Given the description of an element on the screen output the (x, y) to click on. 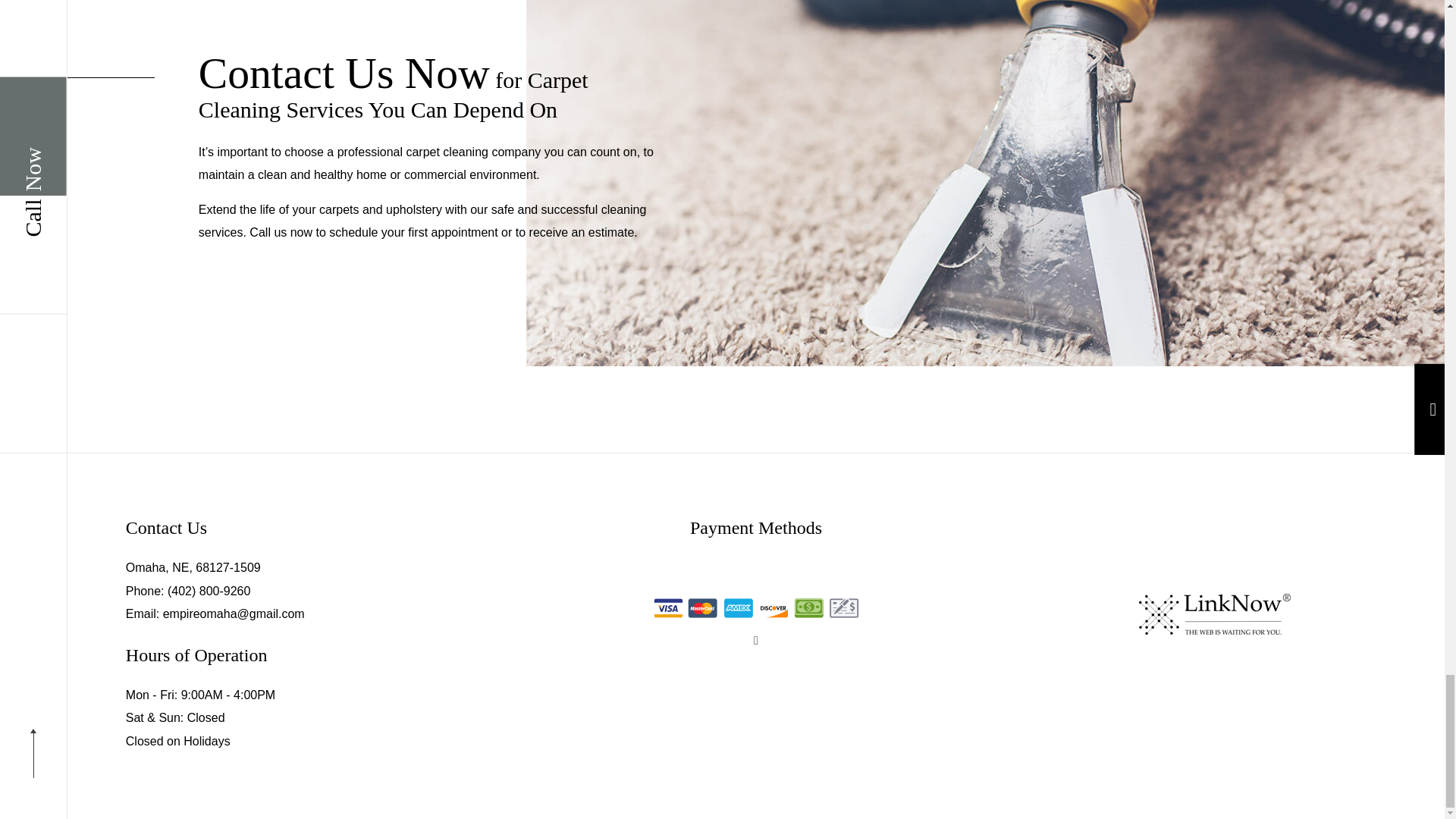
Mastercard (703, 608)
Check (844, 608)
American Express (738, 608)
Discover (773, 608)
Visa (668, 608)
Cash (809, 608)
